Given the description of an element on the screen output the (x, y) to click on. 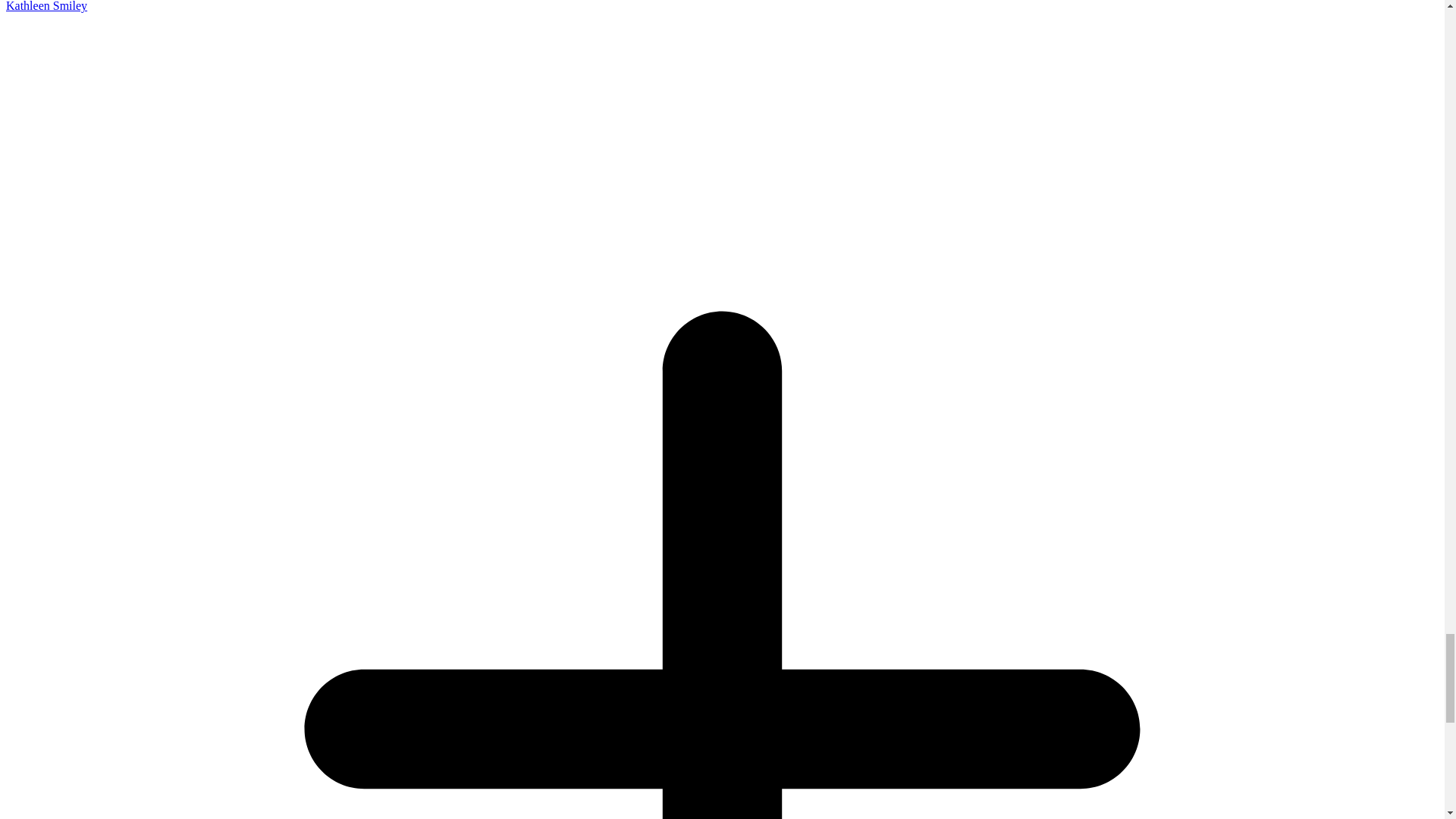
Kathleen Smiley (46, 6)
